Given the description of an element on the screen output the (x, y) to click on. 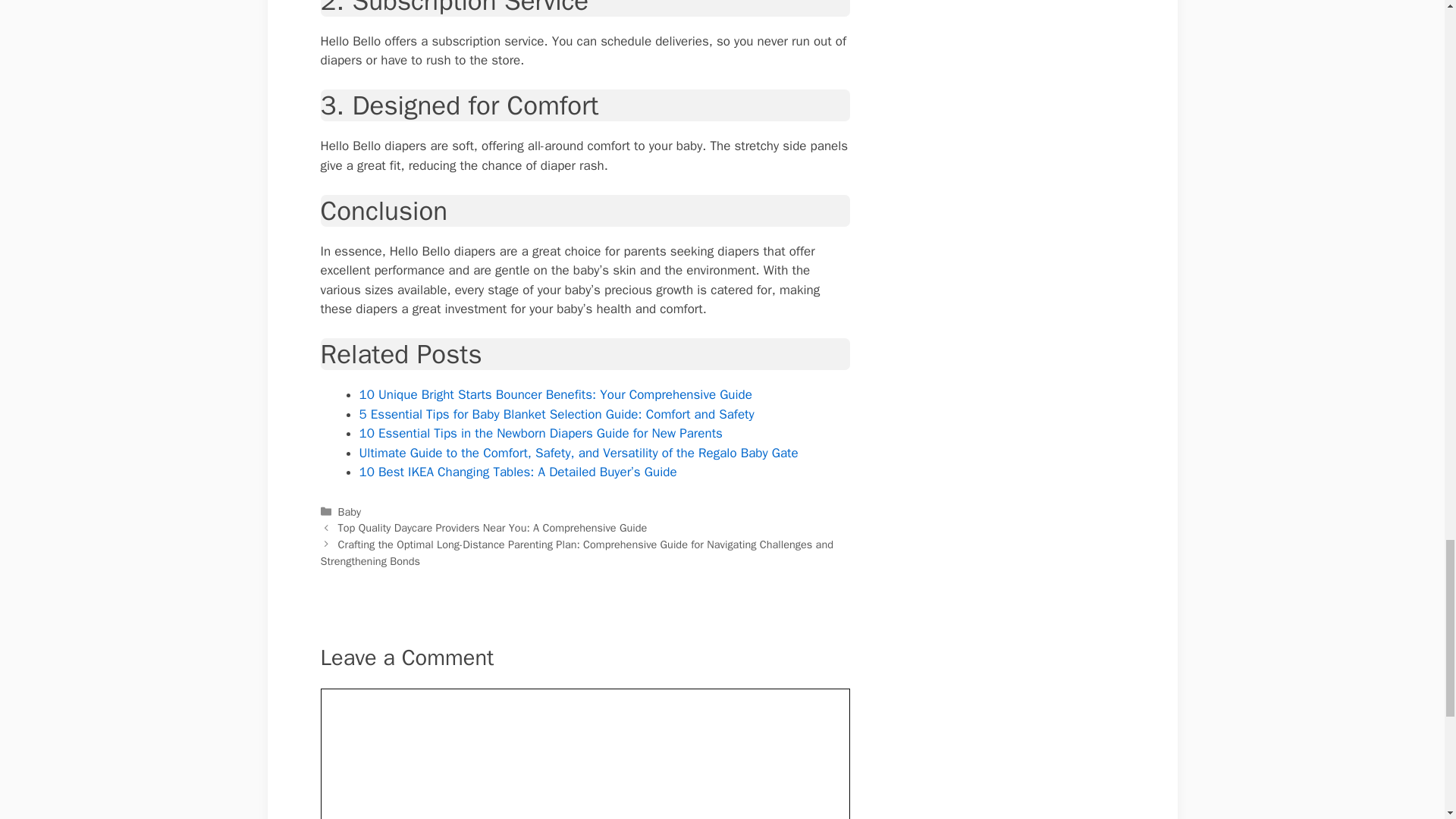
Baby (349, 511)
